Given the description of an element on the screen output the (x, y) to click on. 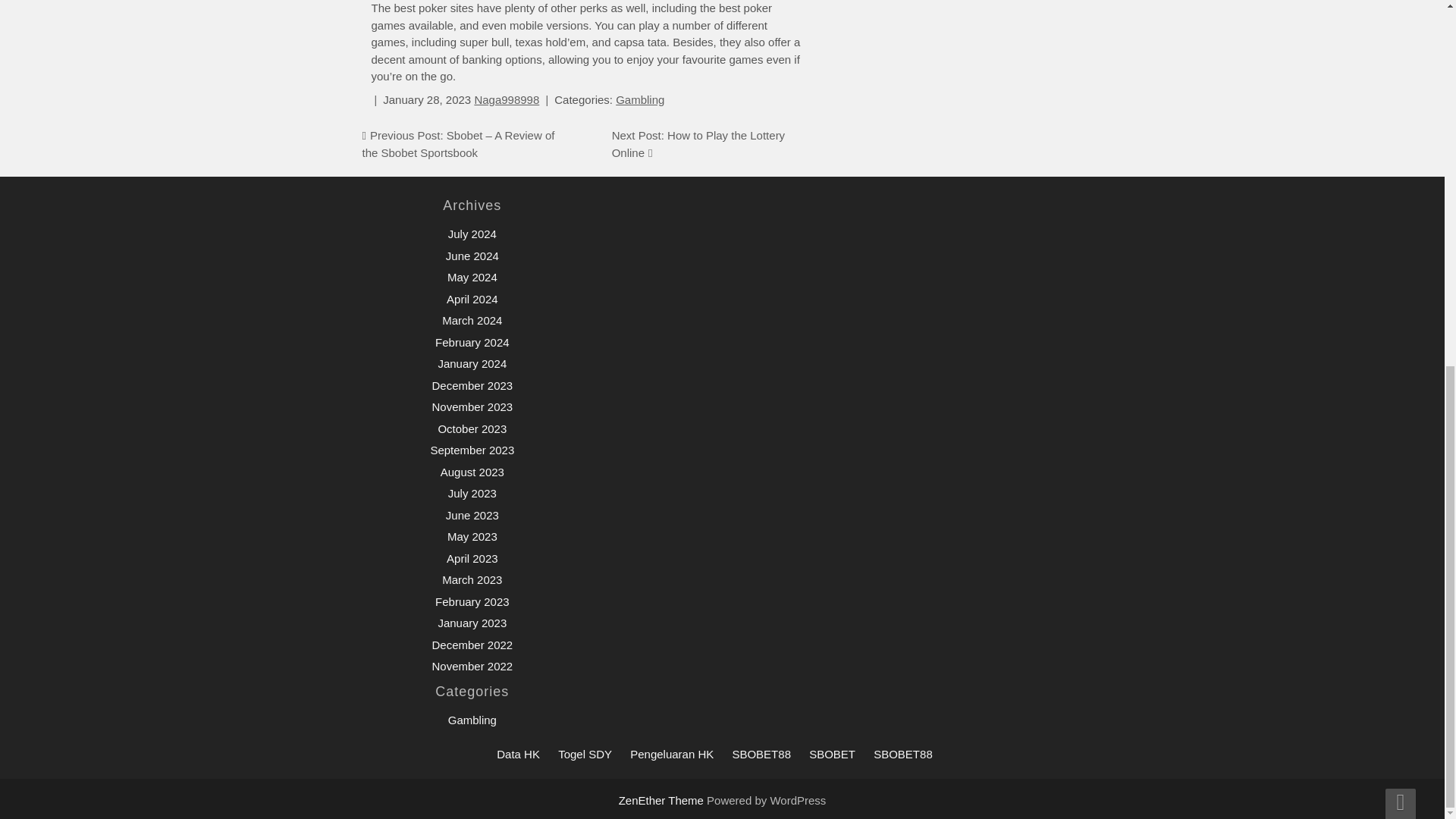
January 2024 (472, 363)
Next Post: How to Play the Lottery Online (697, 143)
July 2023 (472, 492)
December 2023 (471, 385)
November 2023 (471, 406)
March 2023 (472, 579)
Posts by Naga998998 (506, 99)
February 2023 (472, 601)
Naga998998 (506, 99)
April 2023 (471, 558)
February 2024 (472, 341)
August 2023 (472, 472)
November 2022 (471, 666)
June 2023 (472, 514)
January 2023 (472, 622)
